Given the description of an element on the screen output the (x, y) to click on. 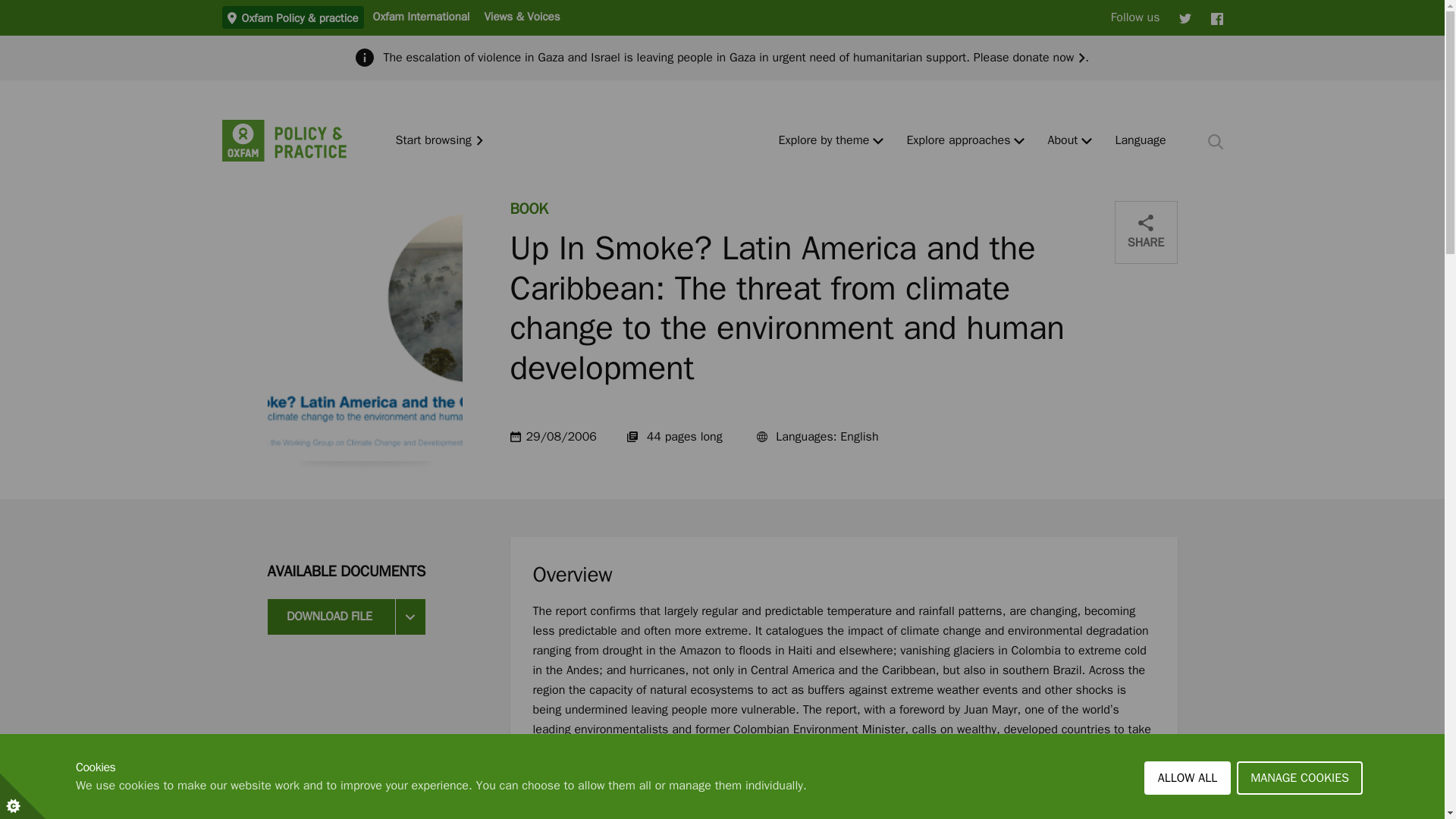
Explore approaches (957, 140)
Facebook (1216, 17)
Explore by theme (823, 140)
Menu toggle (1019, 141)
Skip to content (11, 5)
Oxfam International (420, 16)
MANAGE COOKIES (1299, 811)
Menu toggle (1086, 141)
About (1061, 140)
Menu toggle (877, 141)
